Given the description of an element on the screen output the (x, y) to click on. 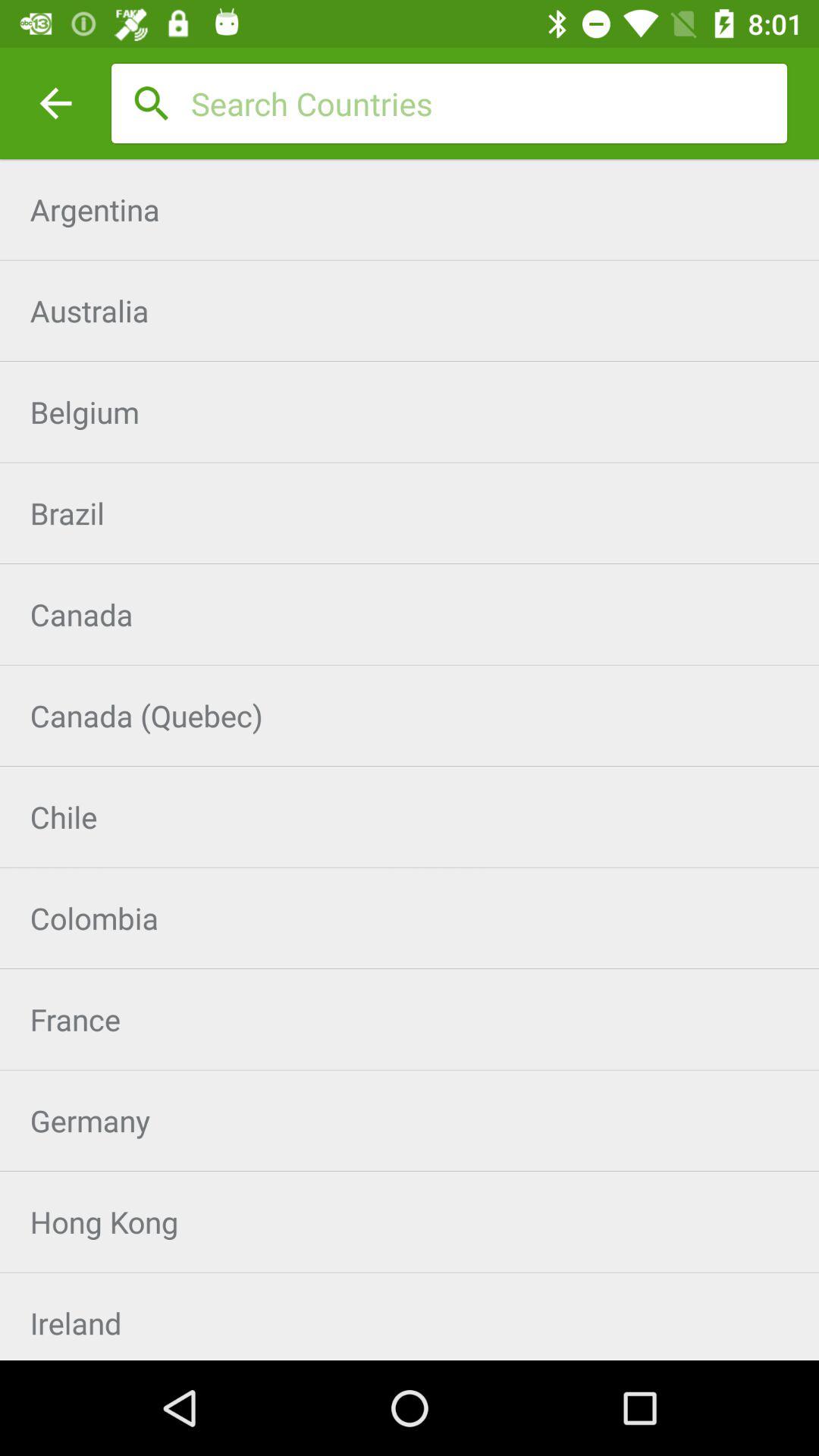
text box to search countries list (489, 103)
